Given the description of an element on the screen output the (x, y) to click on. 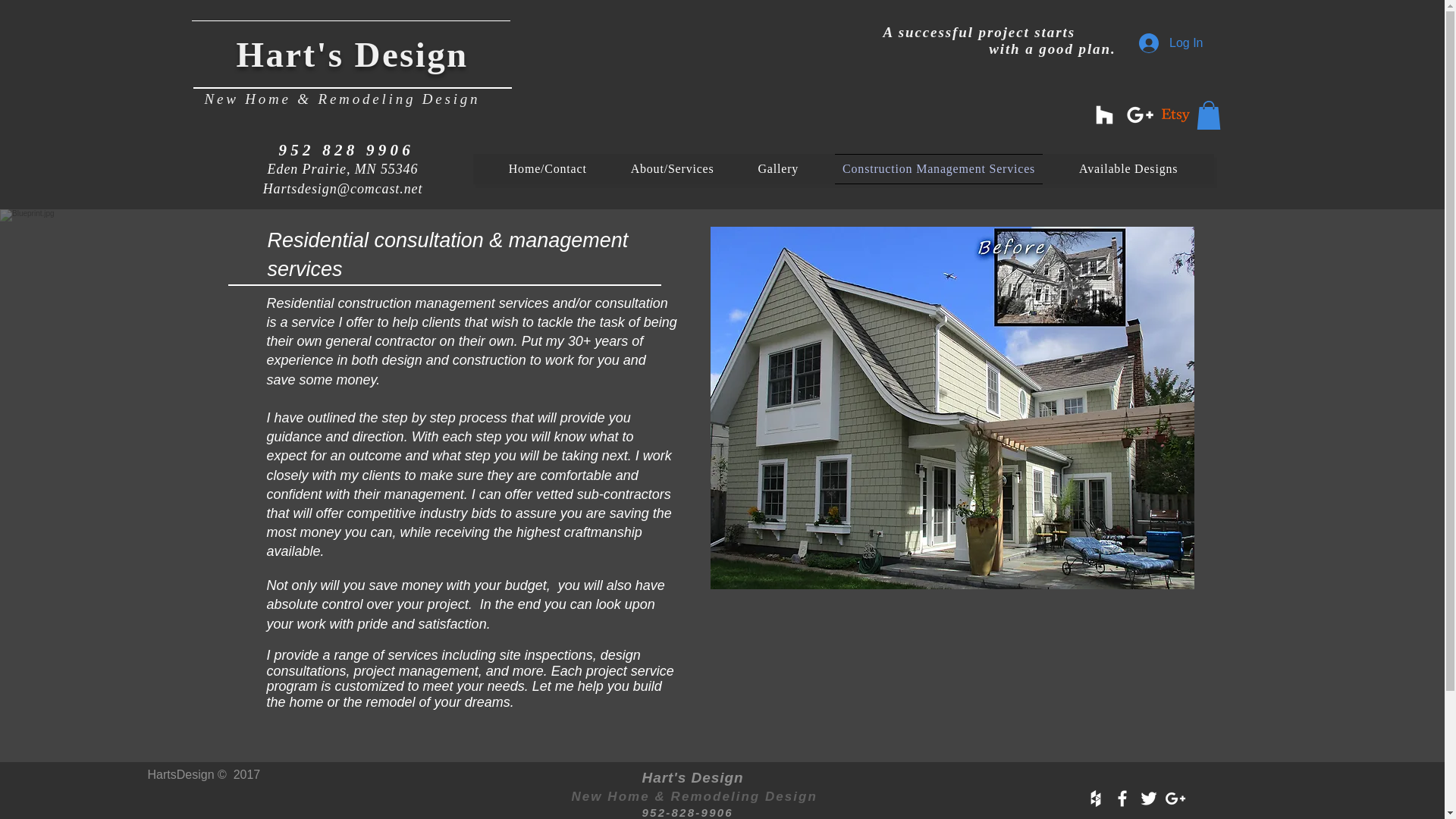
Hart's Design (351, 54)
Gallery (778, 168)
Log In (1170, 42)
Available Designs (1128, 168)
Construction Management Services (938, 168)
